Given the description of an element on the screen output the (x, y) to click on. 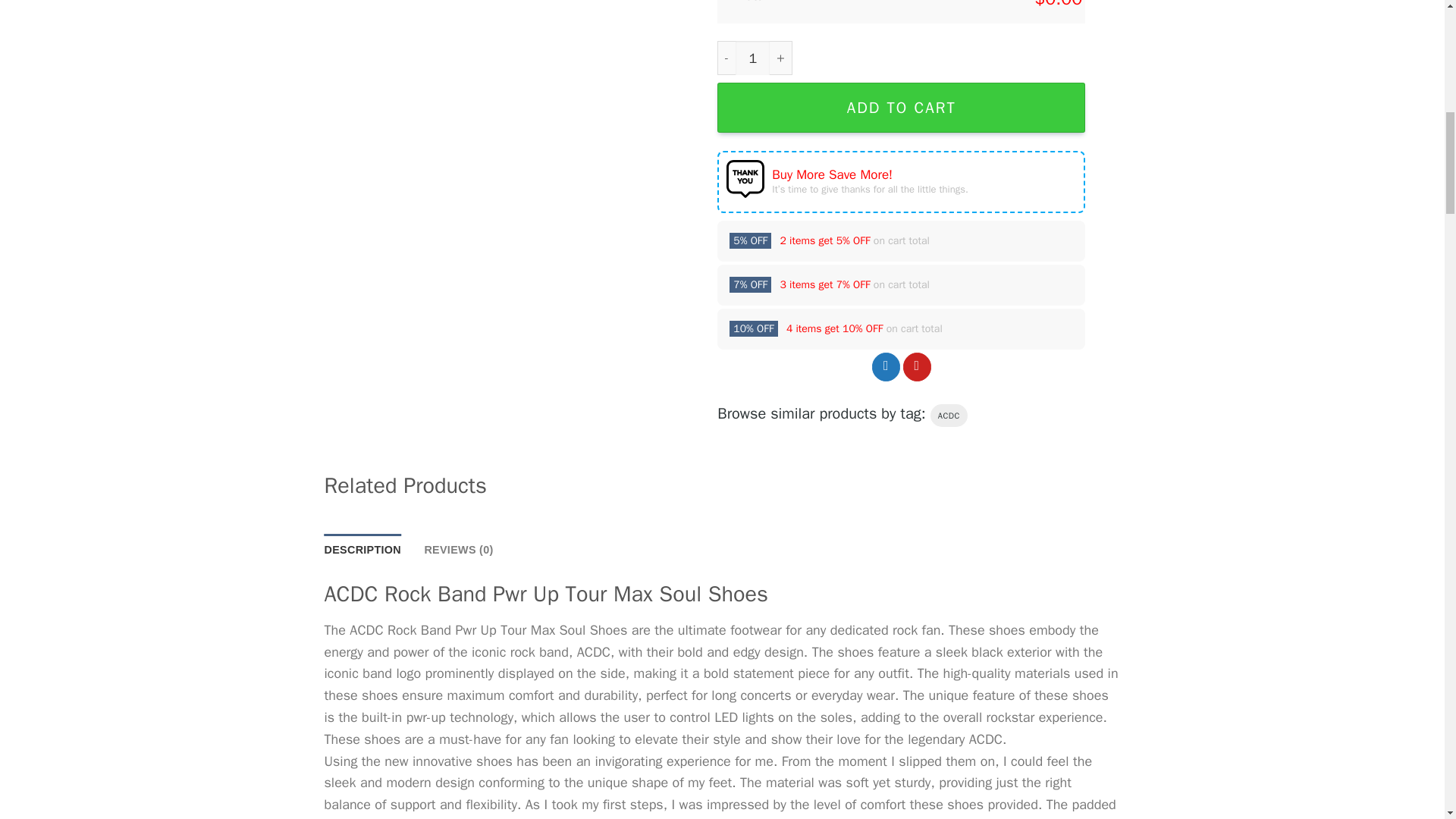
ACDC (949, 415)
ADD TO CART (900, 107)
1 (752, 57)
